Given the description of an element on the screen output the (x, y) to click on. 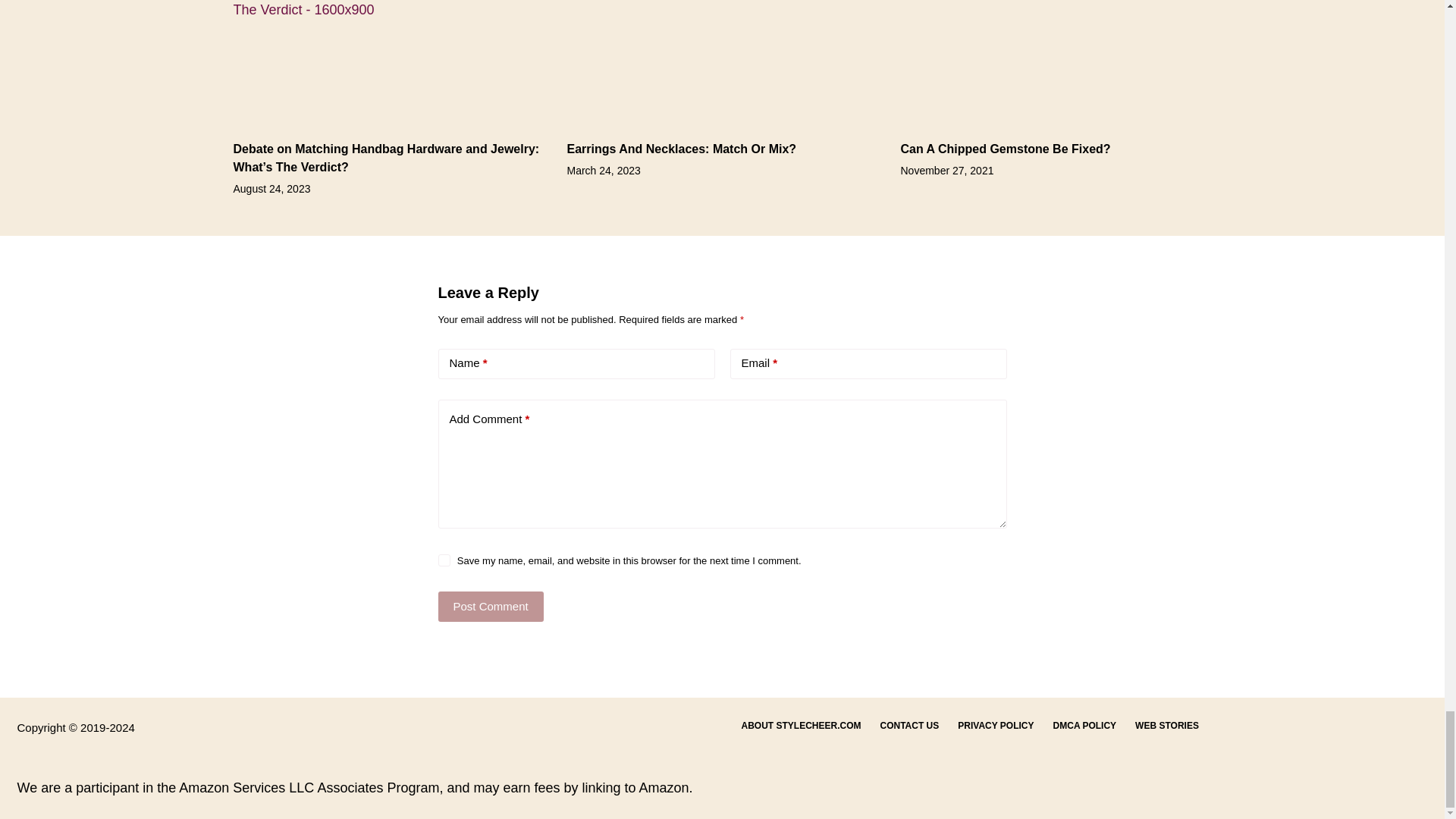
yes (443, 560)
